Given the description of an element on the screen output the (x, y) to click on. 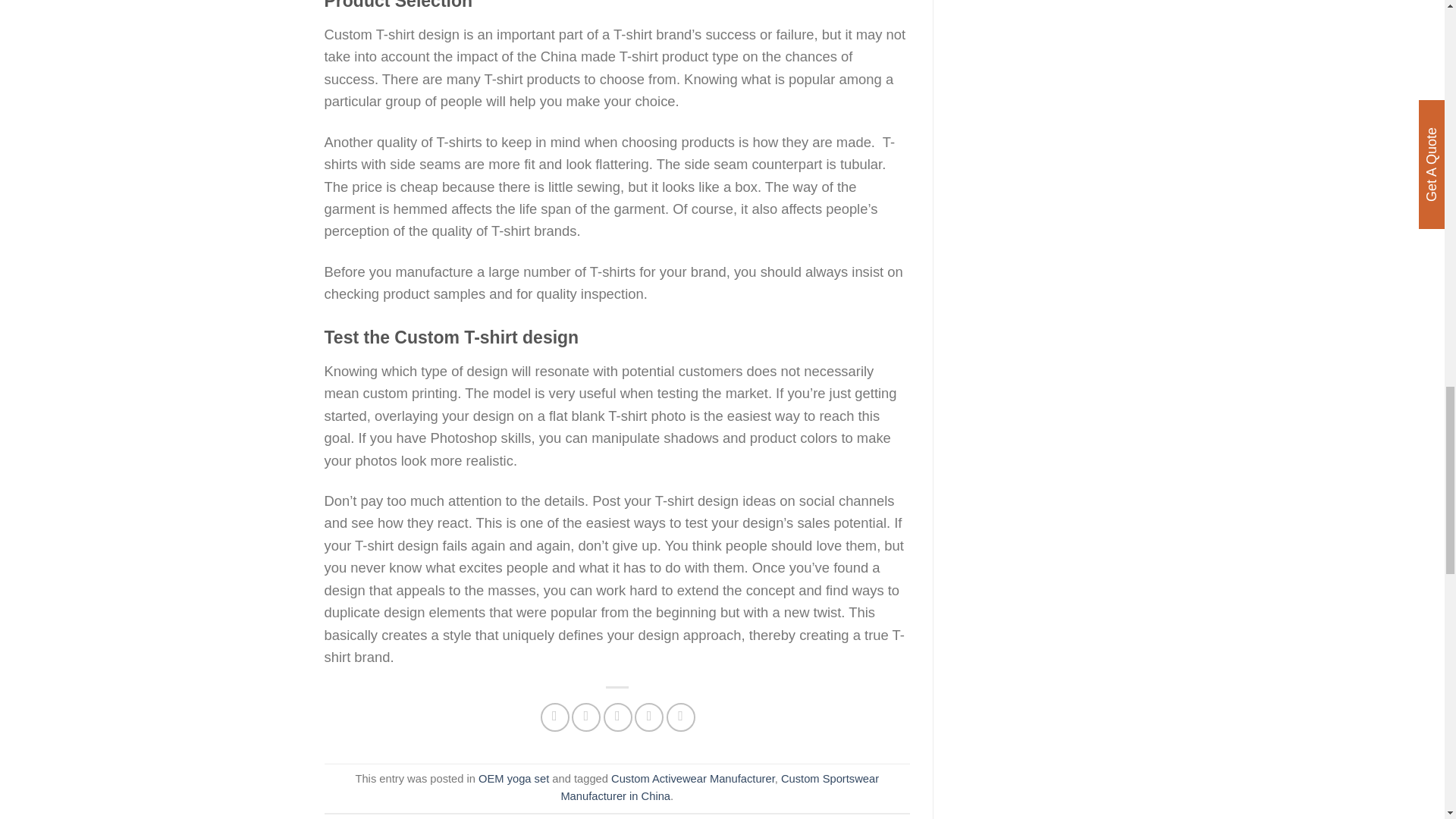
Share on Facebook (554, 717)
Pin on Pinterest (648, 717)
Email to a Friend (617, 717)
Custom Activewear Manufacturer (692, 778)
Share on Twitter (585, 717)
Custom Sportswear Manufacturer in China (719, 788)
OEM yoga set (513, 778)
Share on LinkedIn (680, 717)
